Given the description of an element on the screen output the (x, y) to click on. 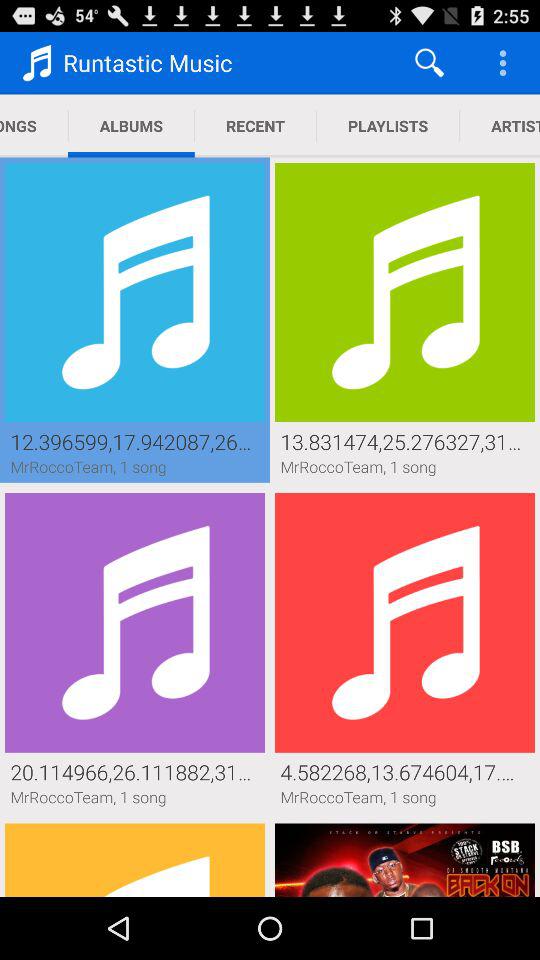
jump until the artists icon (499, 125)
